Given the description of an element on the screen output the (x, y) to click on. 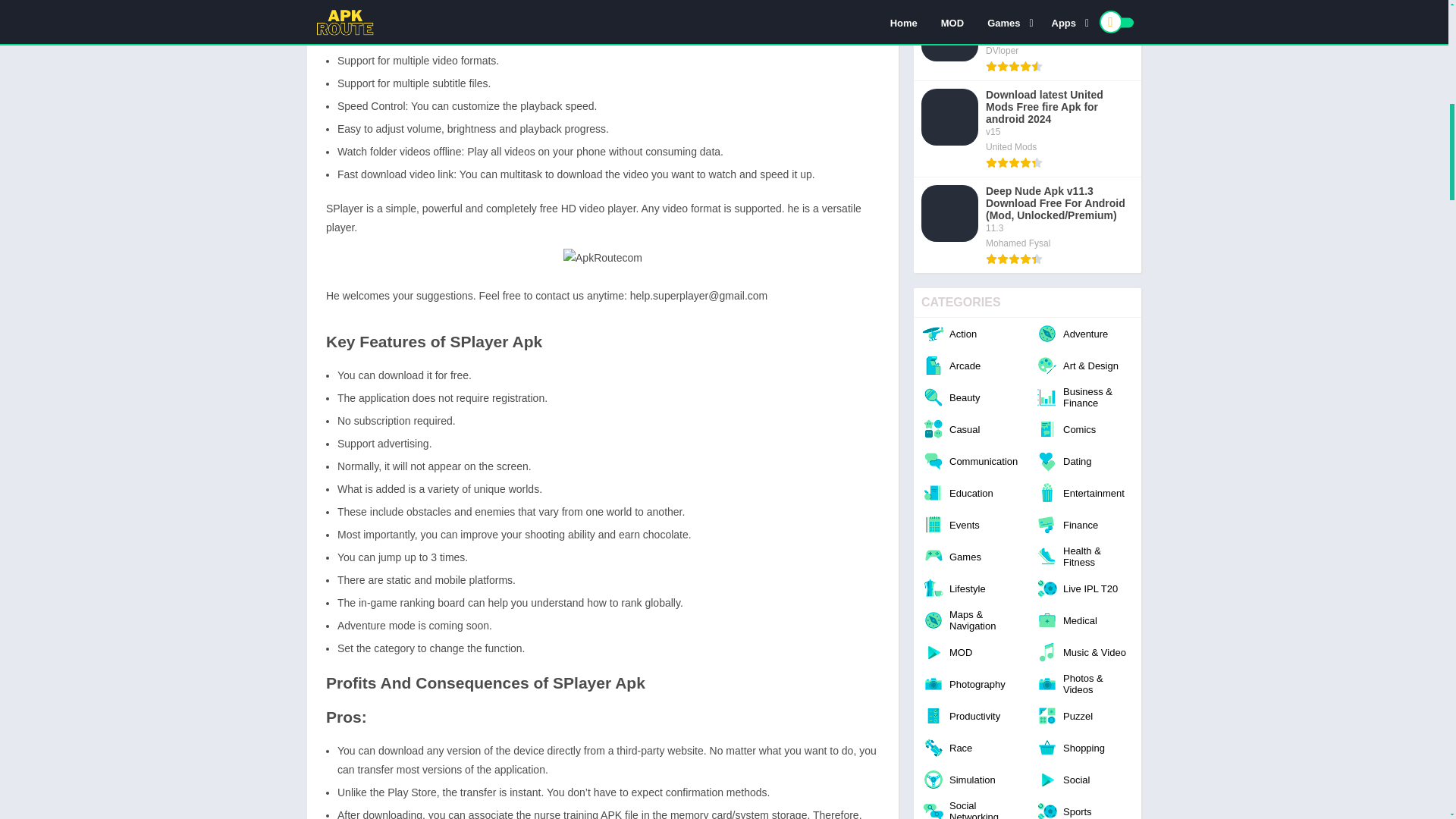
splayer2 apkroutecom (602, 257)
